Given the description of an element on the screen output the (x, y) to click on. 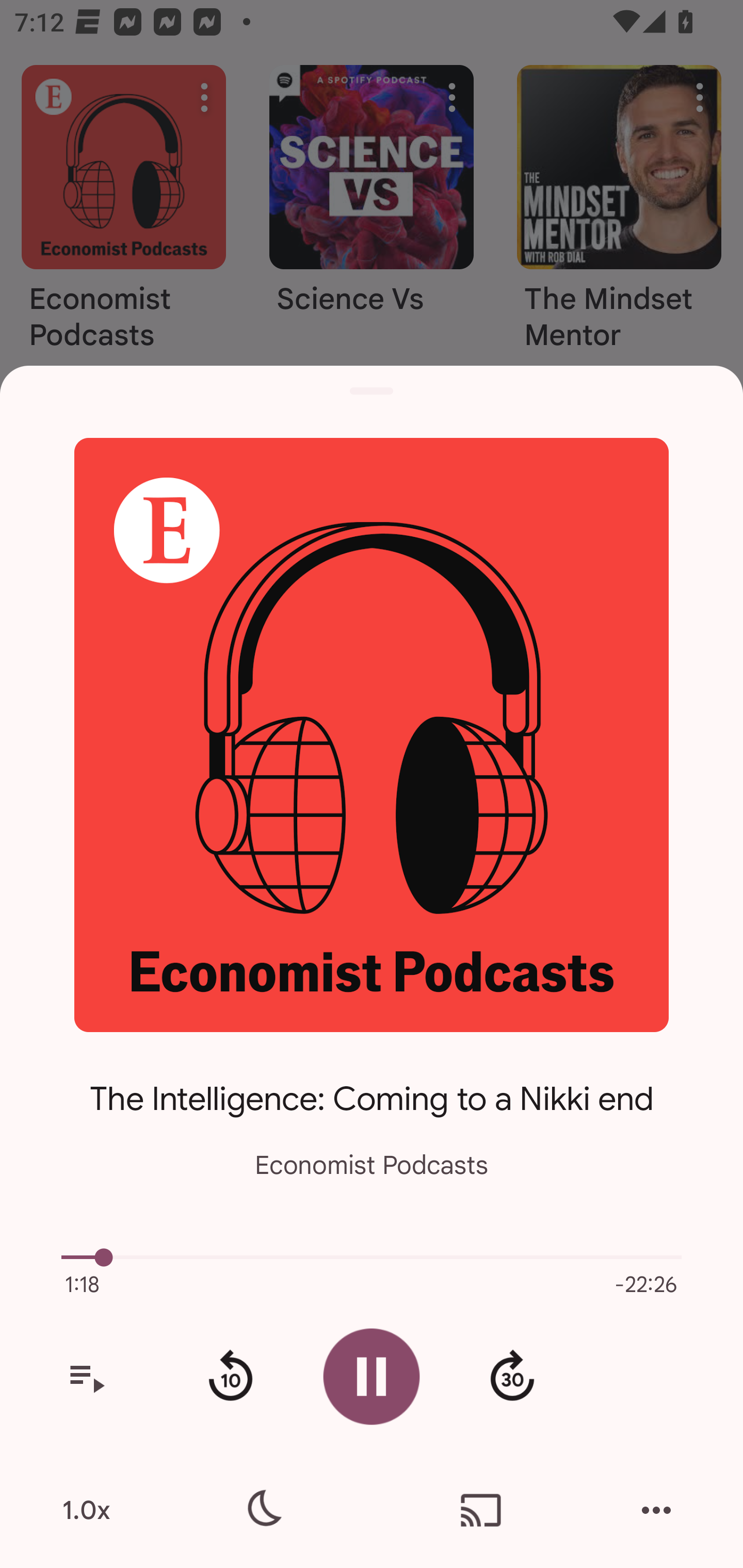
Open the show page for Economist Podcasts (371, 734)
551.0 Current episode playback (371, 1257)
Pause (371, 1376)
View your queue (86, 1376)
Rewind 10 seconds (230, 1376)
Fast forward 30 second (511, 1376)
1.0x Playback speed is 1.0. (86, 1510)
Sleep timer settings (261, 1510)
Cast. Disconnected (480, 1510)
More actions (655, 1510)
